Given the description of an element on the screen output the (x, y) to click on. 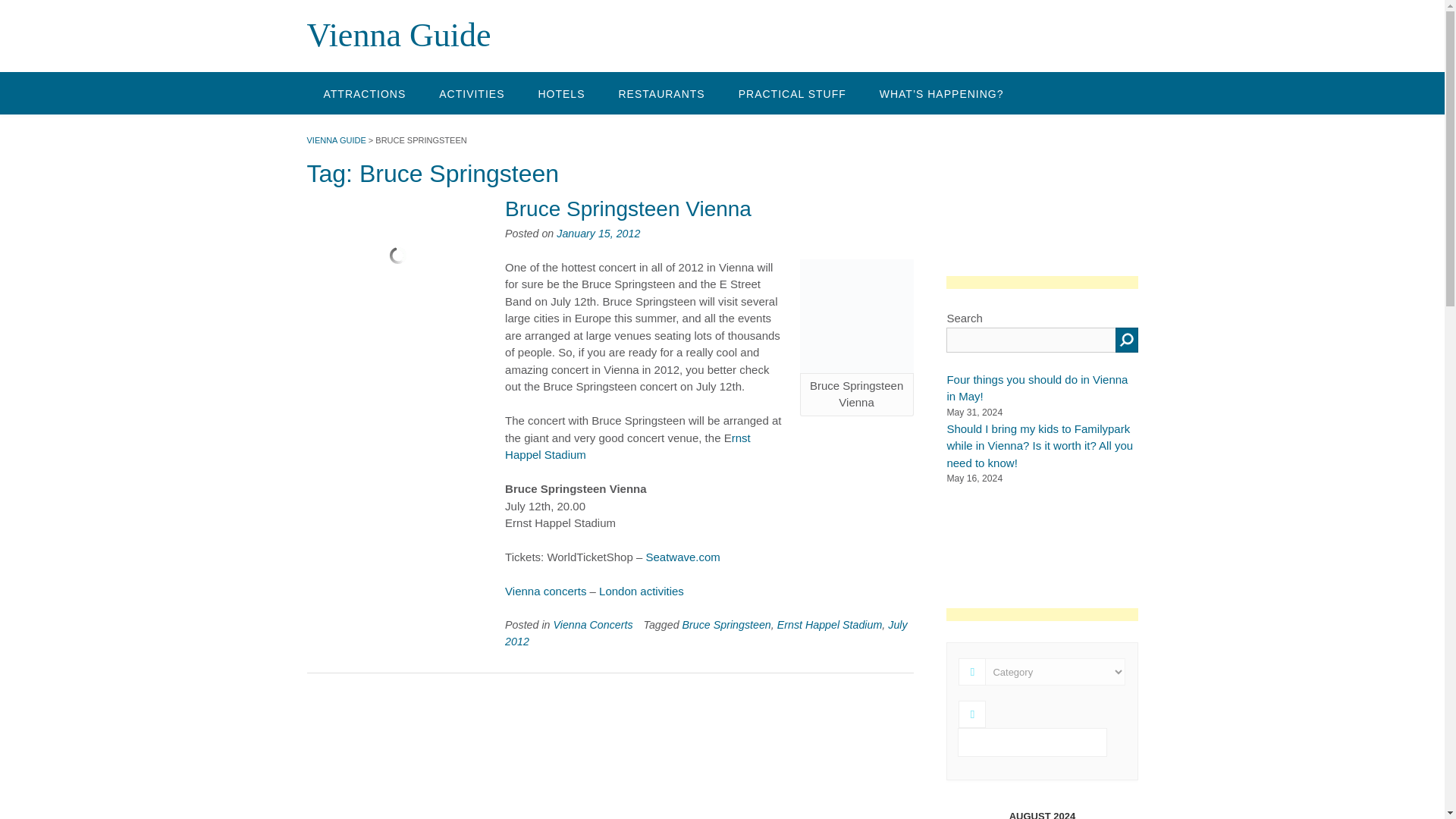
ATTRACTIONS (363, 92)
ACTIVITIES (471, 92)
HOTELS (561, 92)
Vienna Guide (397, 35)
Vienna Guide (397, 35)
Go to Vienna Guide. (335, 139)
Bruce Springsteen (856, 316)
